Given the description of an element on the screen output the (x, y) to click on. 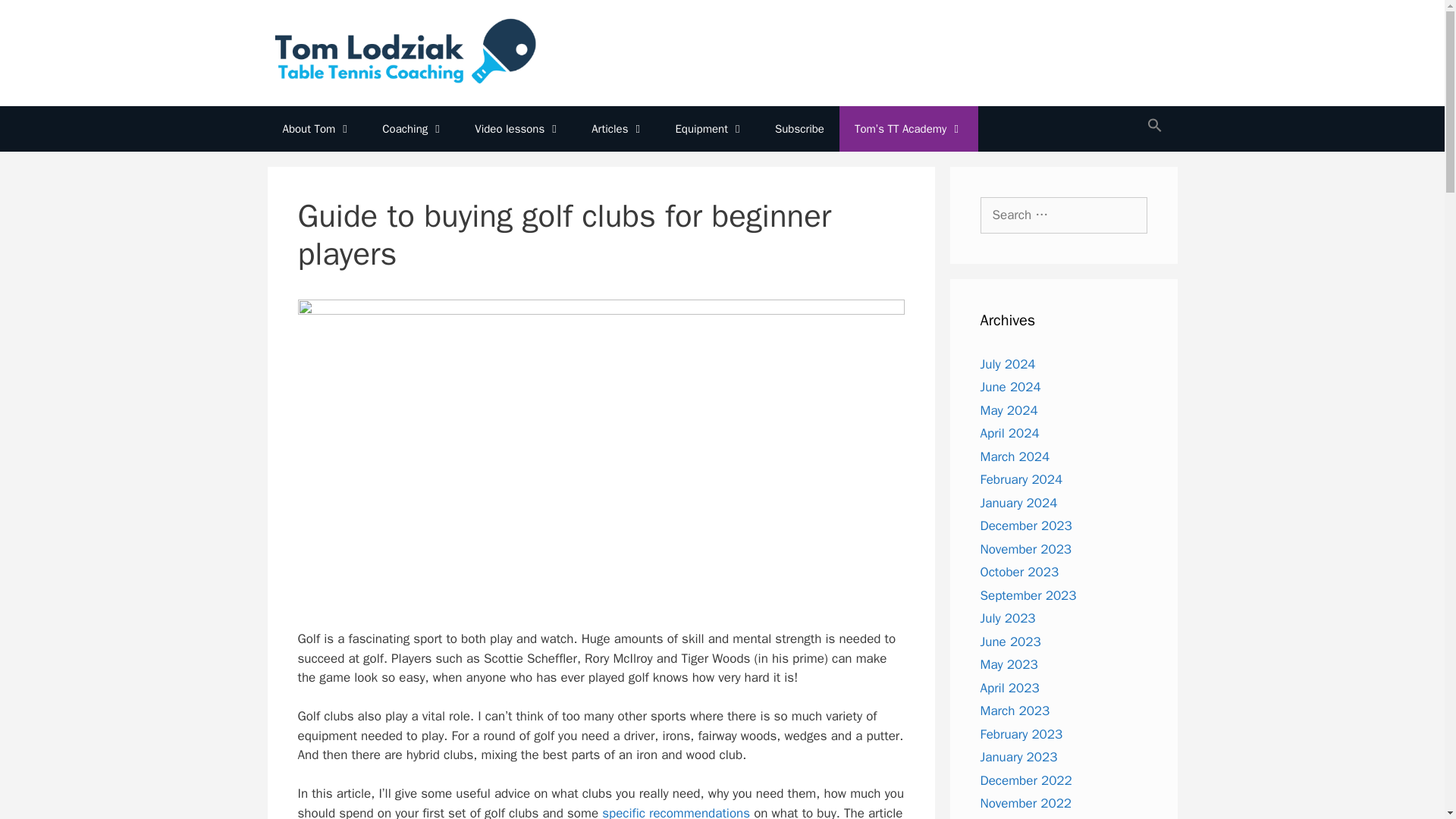
Equipment (709, 128)
Coaching (413, 128)
Articles (617, 128)
Search for: (1063, 215)
Video lessons (518, 128)
About Tom (316, 128)
specific recommendations (675, 812)
Subscribe (800, 128)
